Given the description of an element on the screen output the (x, y) to click on. 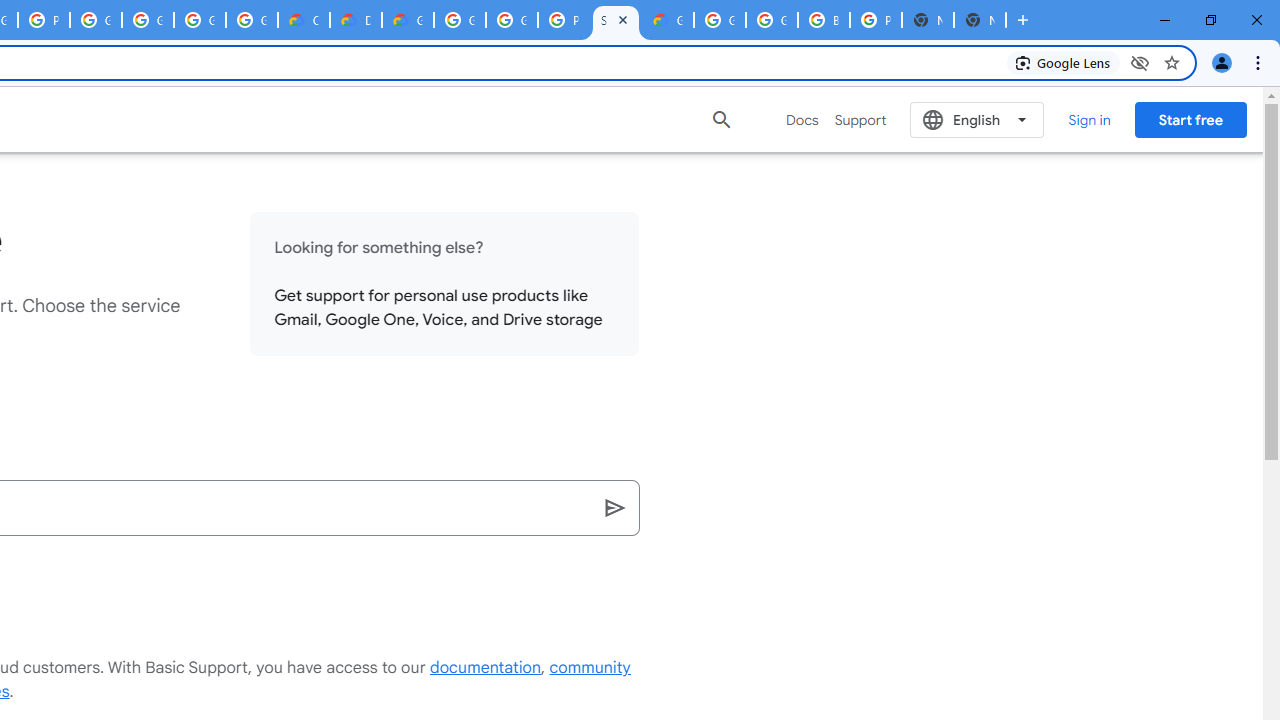
Google Cloud Platform (459, 20)
Customer Care | Google Cloud (303, 20)
New Tab (979, 20)
Search with Google Lens (1063, 62)
documentation (485, 668)
Support (860, 119)
